Given the description of an element on the screen output the (x, y) to click on. 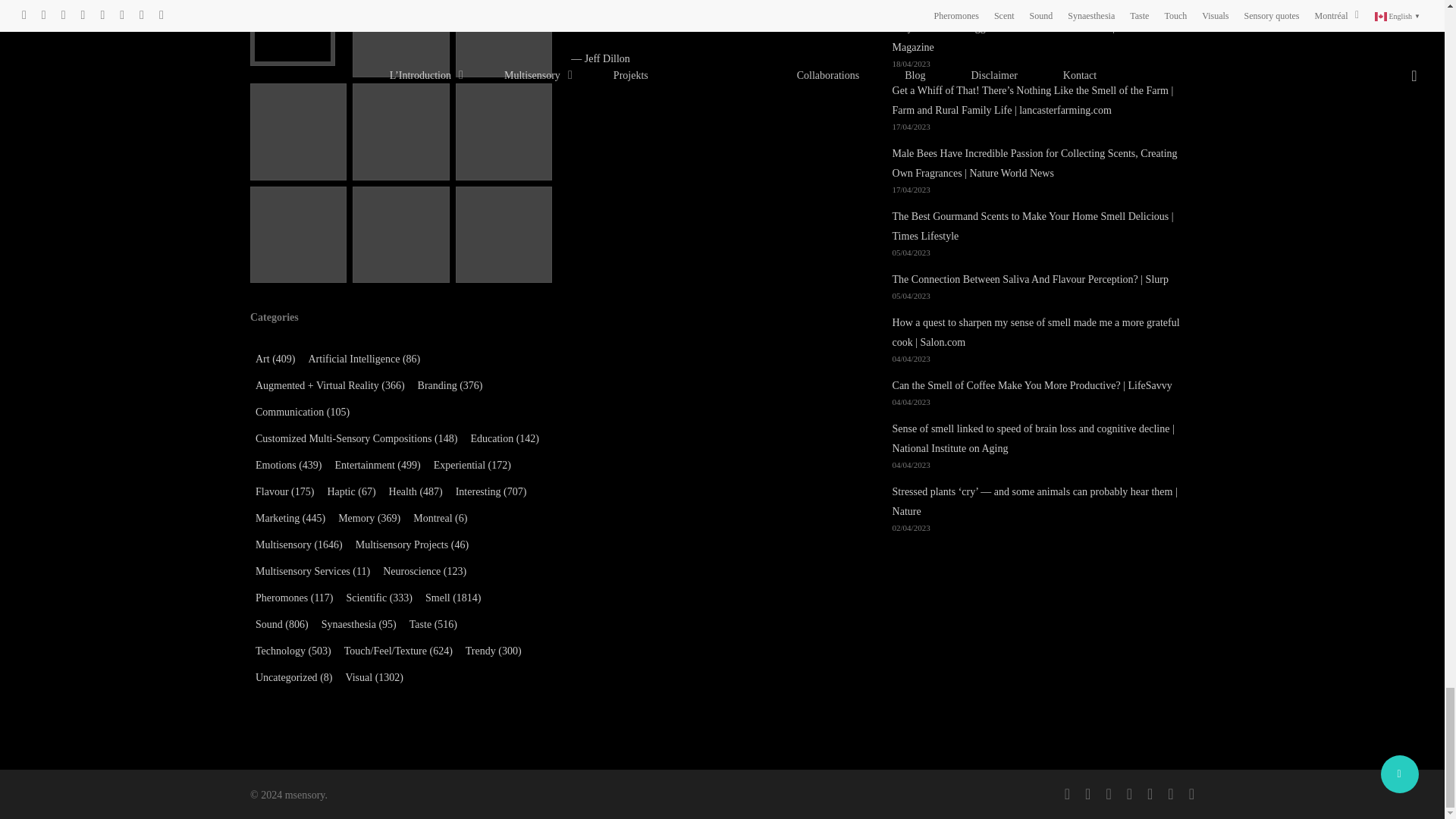
Get vaccinated. Get the Facts! (298, 33)
